Given the description of an element on the screen output the (x, y) to click on. 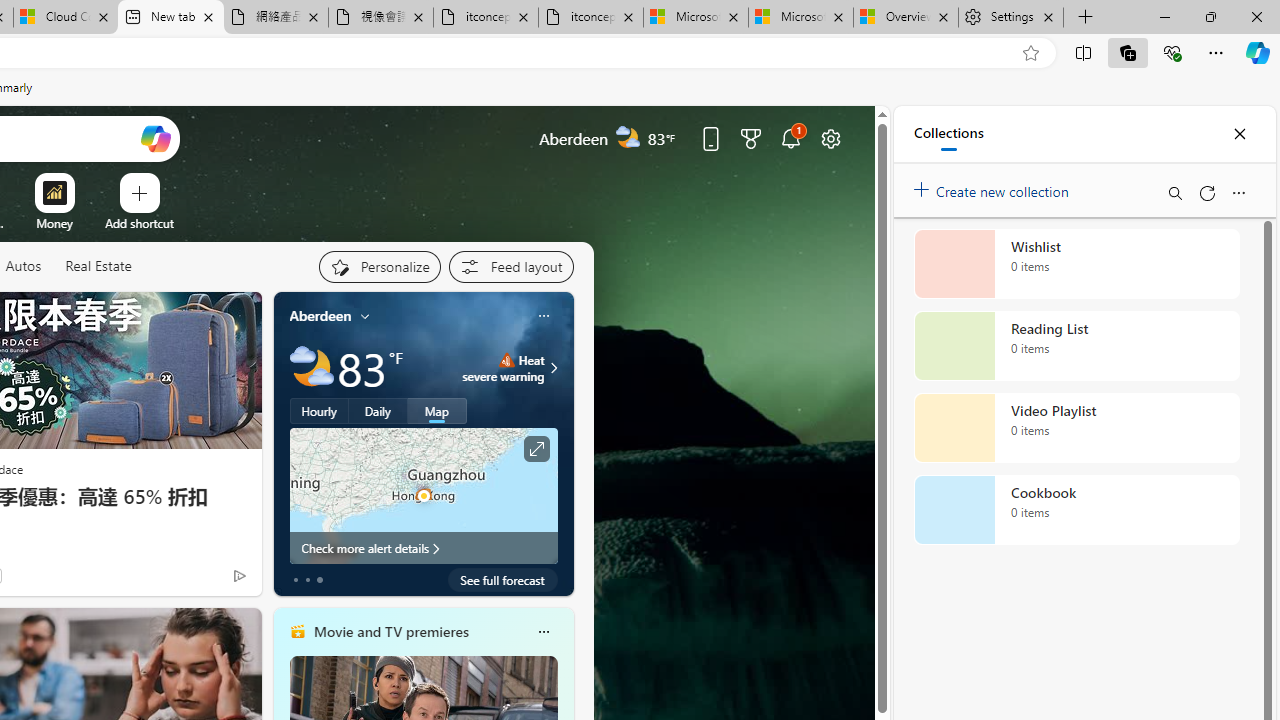
Wishlist collection, 0 items (1076, 263)
Cloud Computing Services | Microsoft Azure (65, 17)
More options menu (1238, 192)
